Given the description of an element on the screen output the (x, y) to click on. 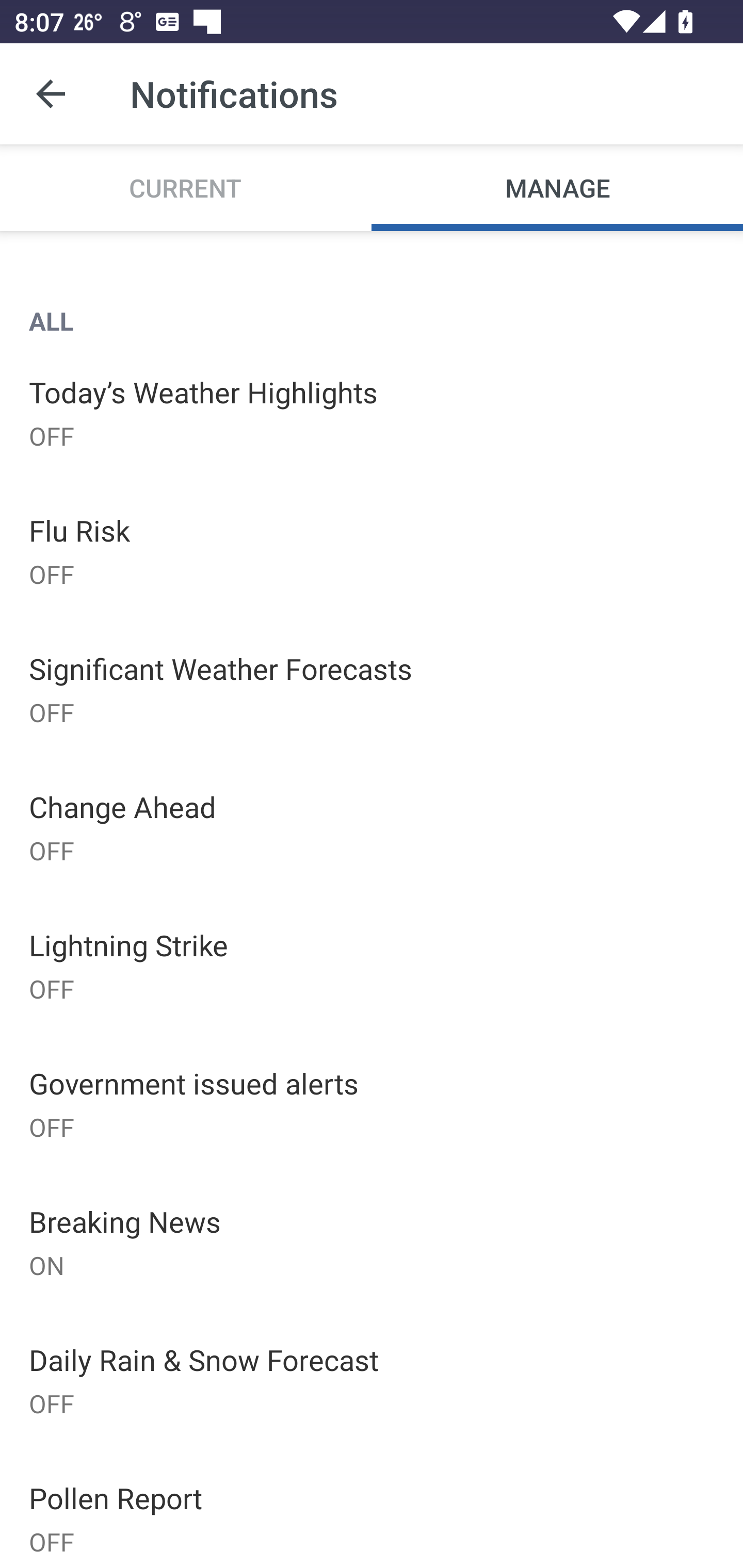
Navigate up (50, 93)
Current Tab CURRENT (185, 187)
Today’s Weather Highlights OFF (371, 412)
Flu Risk OFF (371, 550)
Significant Weather Forecasts OFF (371, 688)
Change Ahead OFF (371, 827)
Lightning Strike OFF (371, 965)
Government issued alerts OFF (371, 1103)
Breaking News ON (371, 1241)
Daily Rain & Snow Forecast OFF (371, 1379)
Pollen Report OFF (371, 1508)
